Given the description of an element on the screen output the (x, y) to click on. 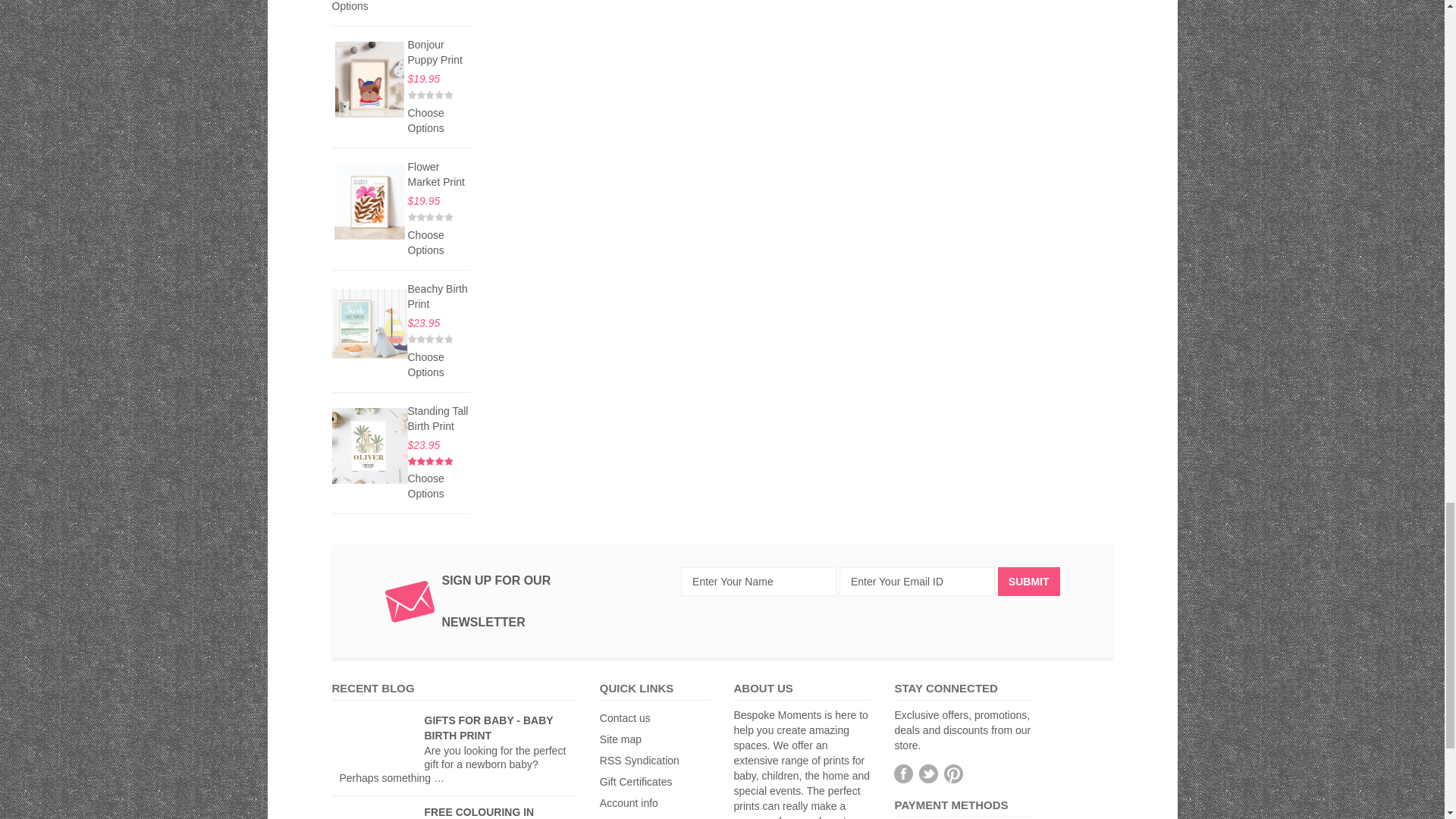
Enter Your Name (758, 581)
Enter Your Email ID (917, 581)
Submit (1028, 581)
Facebook (902, 773)
Twitter (927, 773)
Pinterest (952, 773)
